Given the description of an element on the screen output the (x, y) to click on. 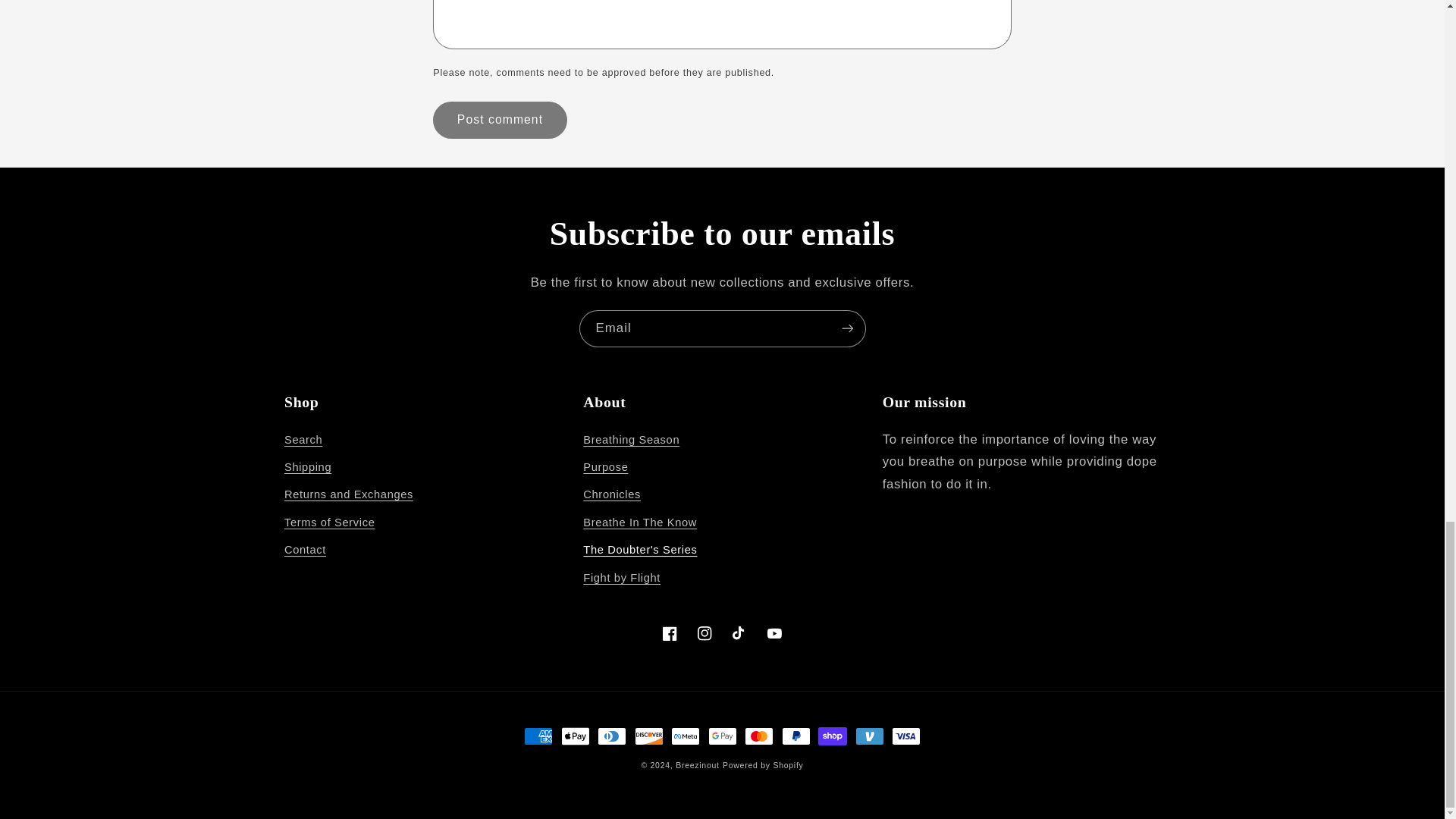
Shipping (307, 467)
Search (302, 442)
Returns and Exchanges (348, 494)
Post comment (499, 119)
Post comment (499, 119)
